Given the description of an element on the screen output the (x, y) to click on. 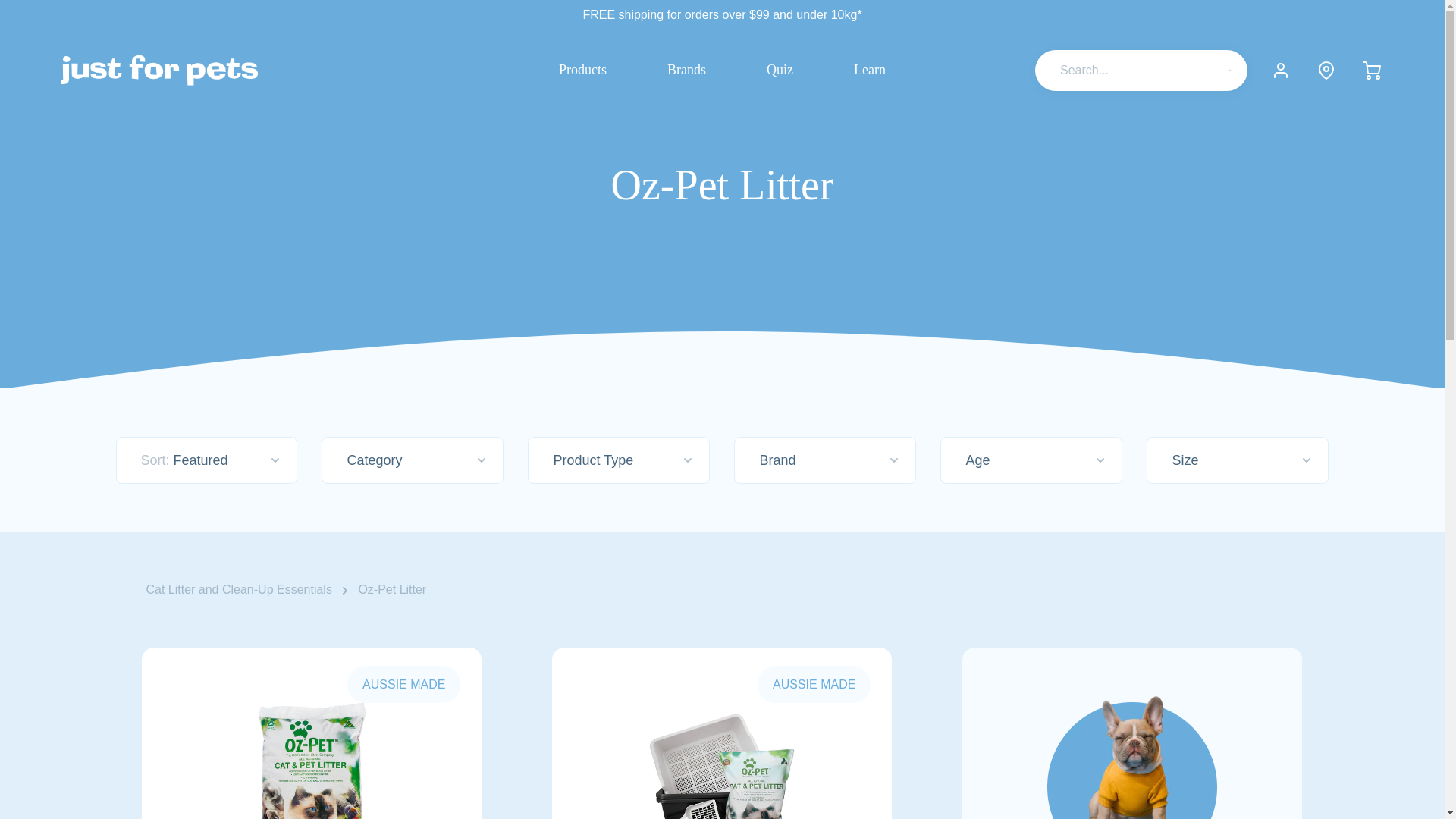
Products (582, 69)
Products (582, 69)
Home (159, 70)
